Given the description of an element on the screen output the (x, y) to click on. 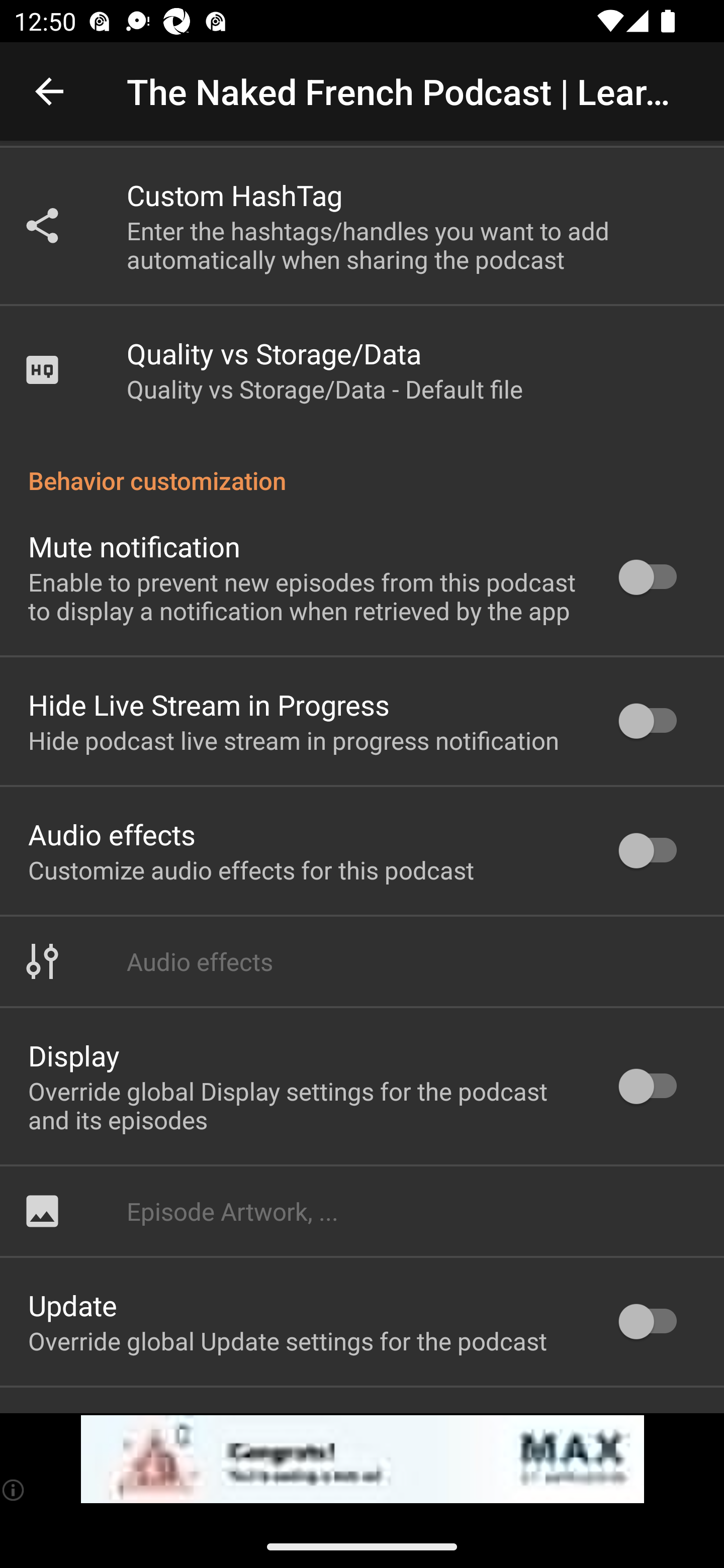
Navigate up (49, 91)
Audio effects (362, 961)
Episode Artwork, ... (362, 1210)
app-monetization (362, 1459)
(i) (14, 1489)
